Given the description of an element on the screen output the (x, y) to click on. 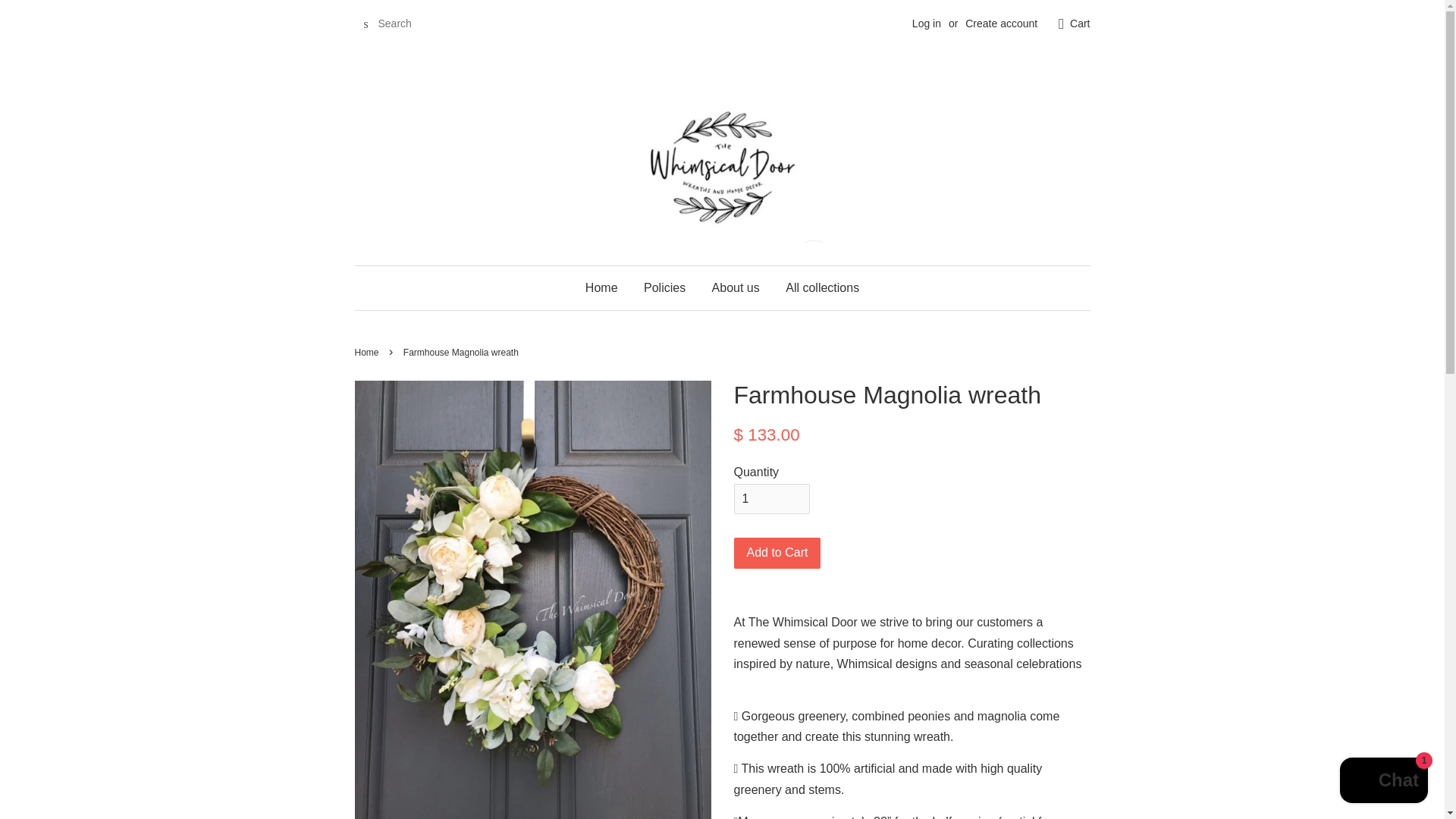
Shopify online store chat (1383, 781)
Cart (1079, 24)
All collections (816, 287)
Create account (1000, 23)
Home (606, 287)
Search (366, 24)
About us (735, 287)
1 (771, 499)
Add to Cart (777, 552)
Home (368, 352)
Log in (926, 23)
Policies (664, 287)
Back to the frontpage (368, 352)
